Given the description of an element on the screen output the (x, y) to click on. 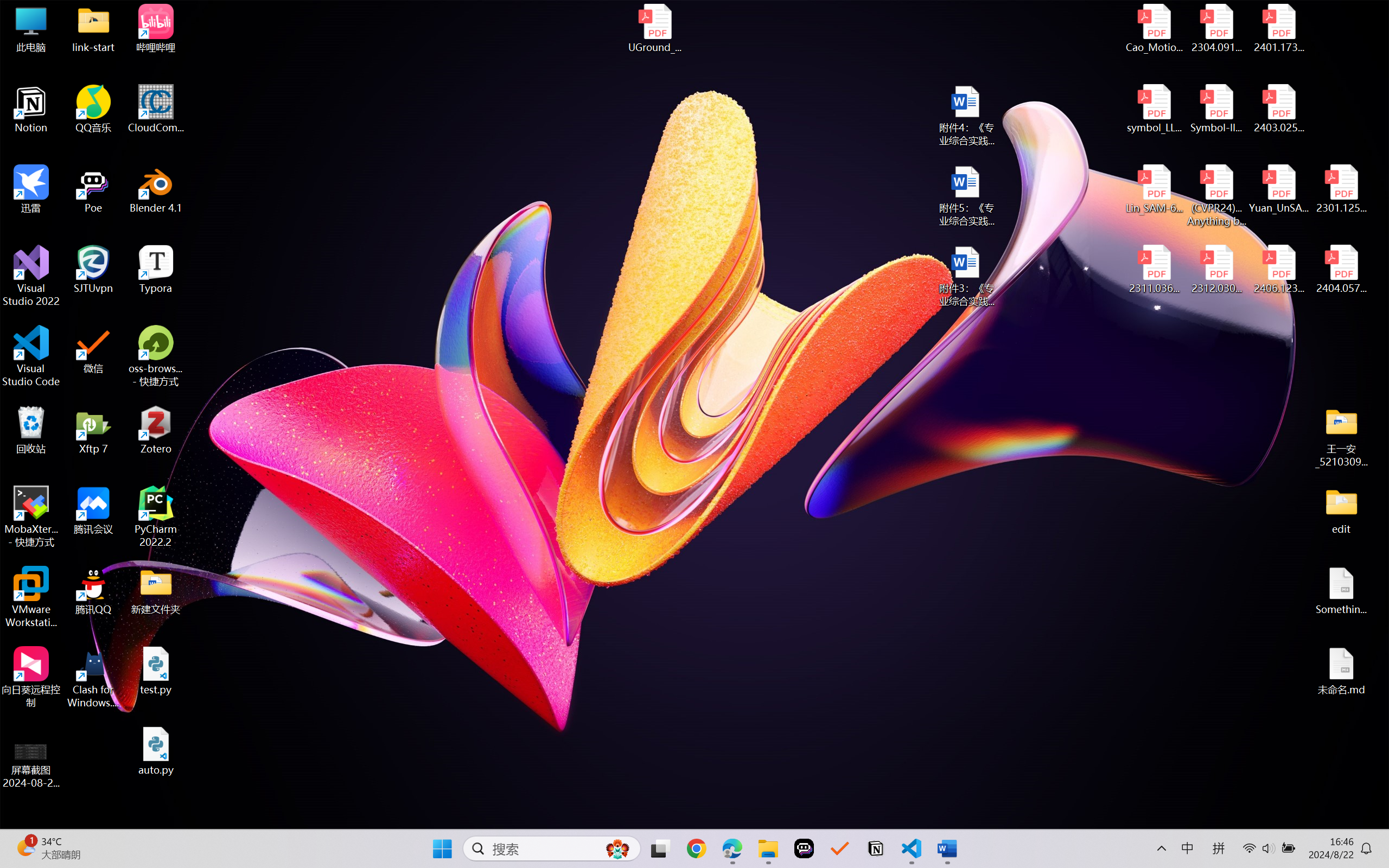
2311.03658v2.pdf (1154, 269)
VMware Workstation Pro (31, 597)
2406.12373v2.pdf (1278, 269)
Google Chrome (696, 848)
2301.12597v3.pdf (1340, 189)
Symbol-llm-v2.pdf (1216, 109)
